Given the description of an element on the screen output the (x, y) to click on. 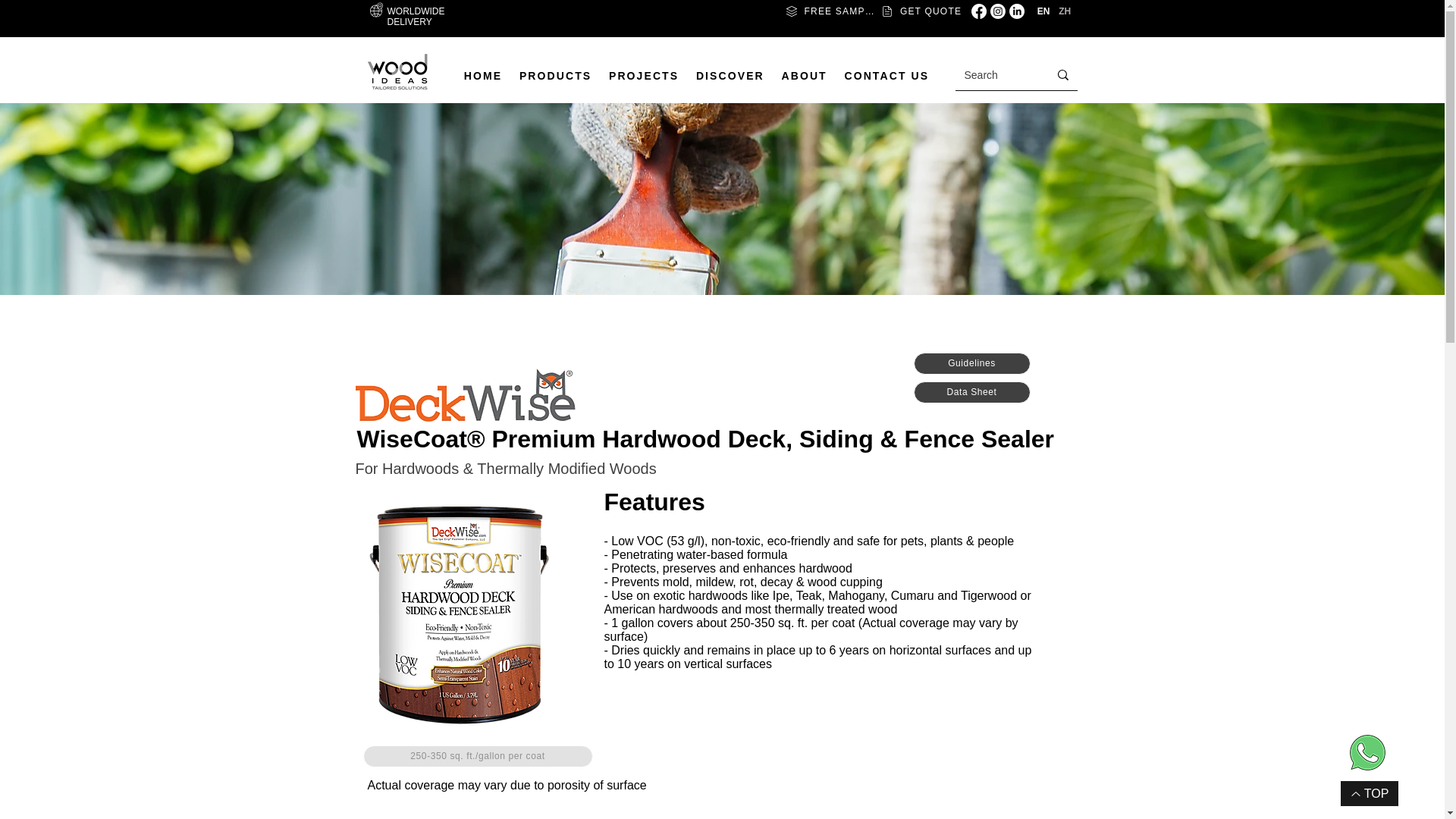
GET QUOTE (920, 11)
ZH (1064, 11)
PROJECTS (643, 75)
EN (1042, 11)
PRODUCTS (555, 75)
WORLDWIDE DELIVERY (415, 16)
FREE SAMPLE (829, 11)
HOME (482, 75)
DISCOVER (730, 75)
